Given the description of an element on the screen output the (x, y) to click on. 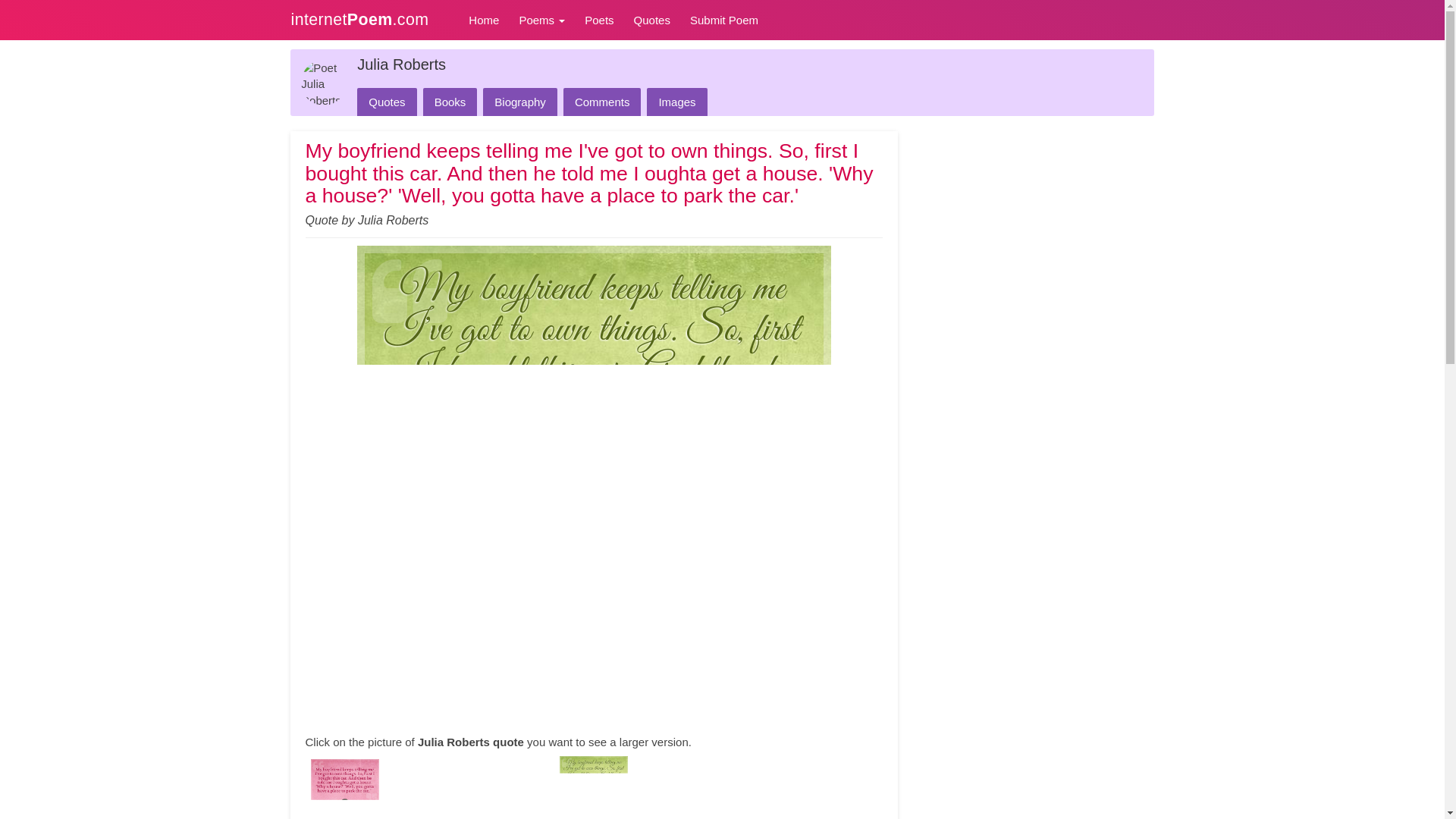
Quotes (386, 101)
Biography of Julia Roberts (520, 101)
Comments (602, 101)
Julia Roberts images, photos (676, 101)
Biography (520, 101)
All Poets (599, 19)
Books (450, 101)
internetPoem.com (369, 18)
Comments about Julia Roberts (602, 101)
internet poem poems (369, 18)
Images (676, 101)
Julia Roberts (400, 64)
Julia Roberts Books (450, 101)
Quotes from famous peoples (651, 19)
Submit a Poem (723, 19)
